Given the description of an element on the screen output the (x, y) to click on. 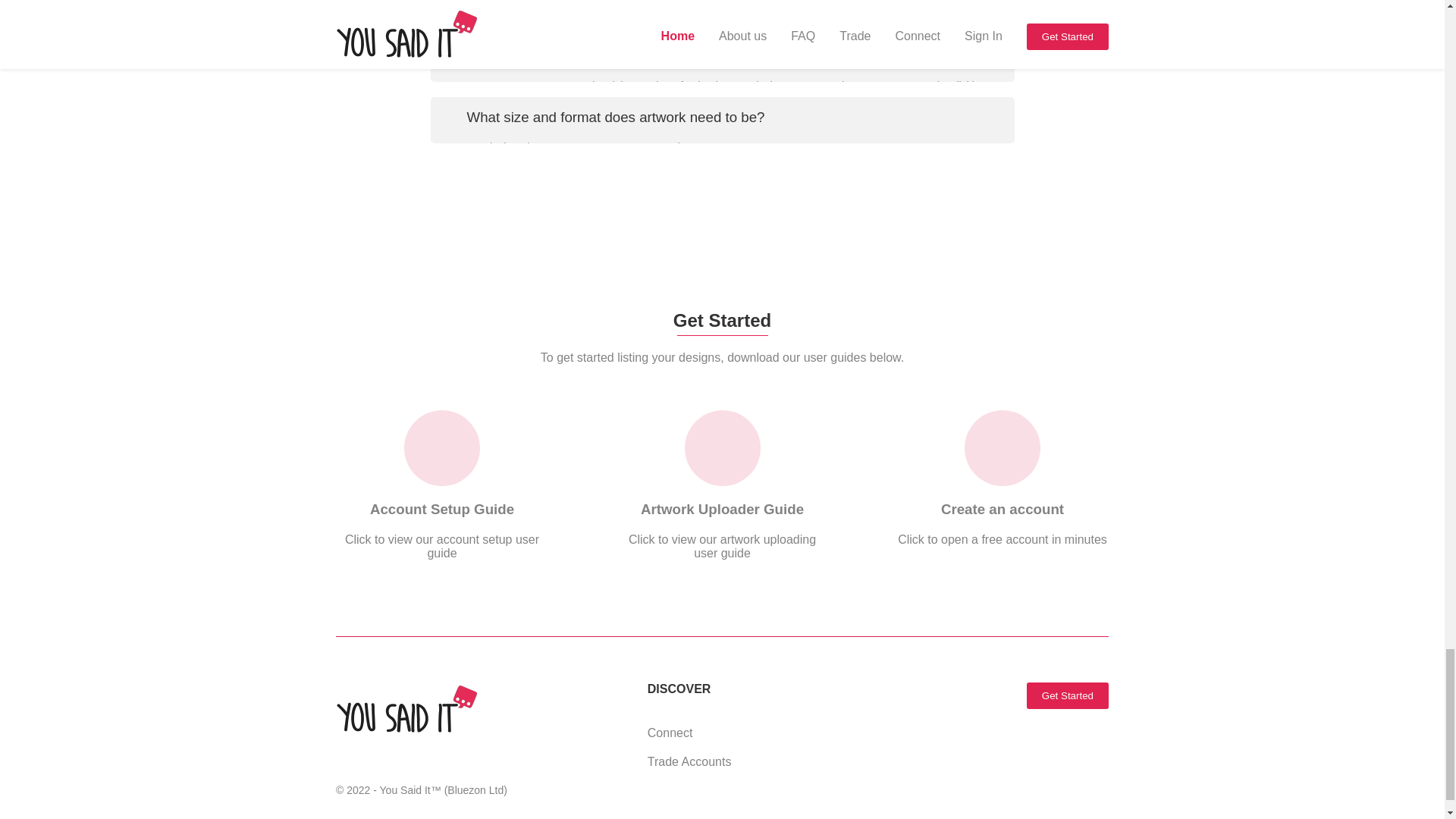
Get Started (1067, 694)
Get Started (1067, 695)
Trade Accounts (689, 761)
Connect (1002, 485)
